Given the description of an element on the screen output the (x, y) to click on. 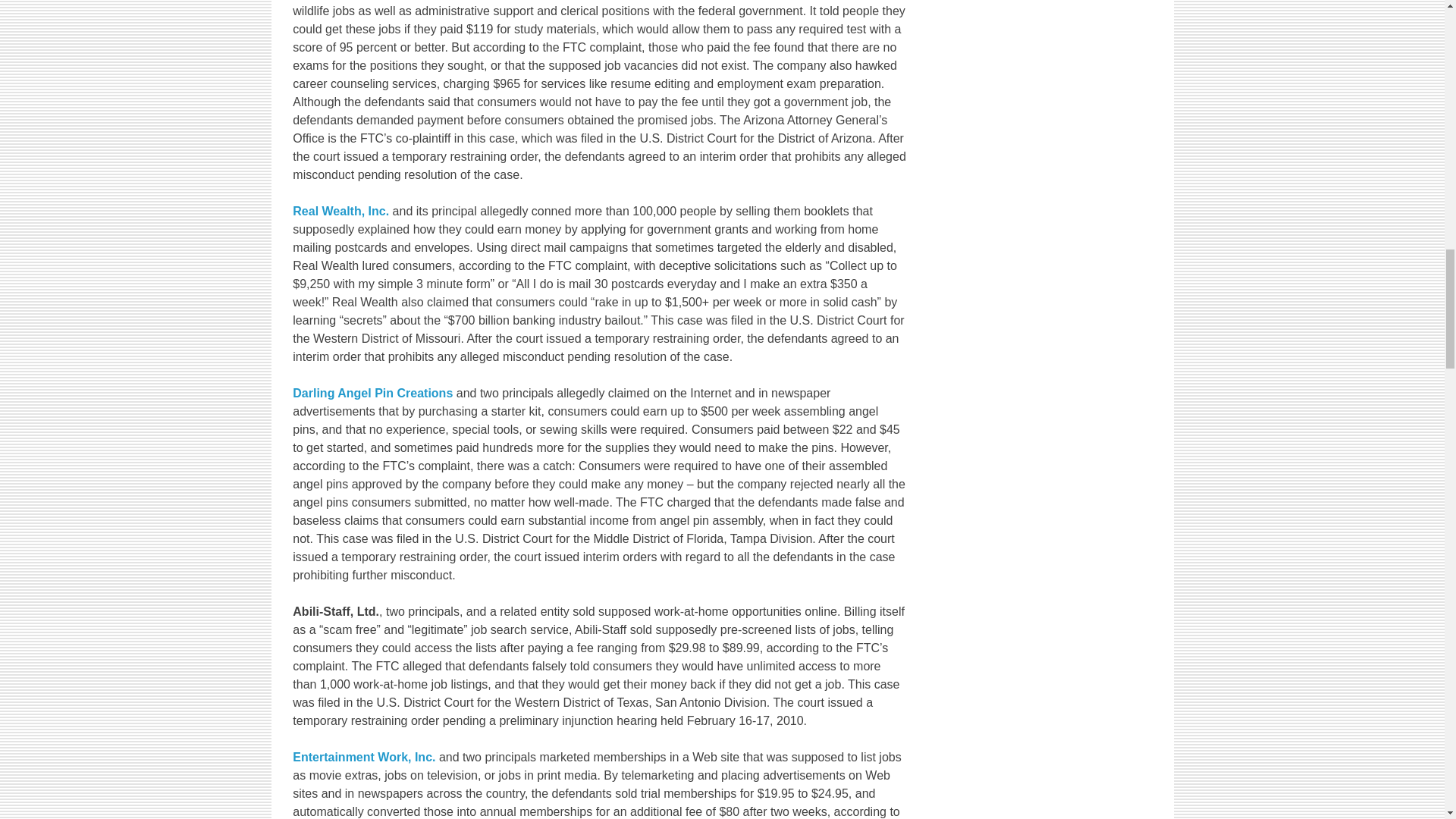
Darling Angel Pin Creations (372, 392)
Entertainment Work, Inc. (363, 757)
Real Wealth, Inc. (340, 210)
